Given the description of an element on the screen output the (x, y) to click on. 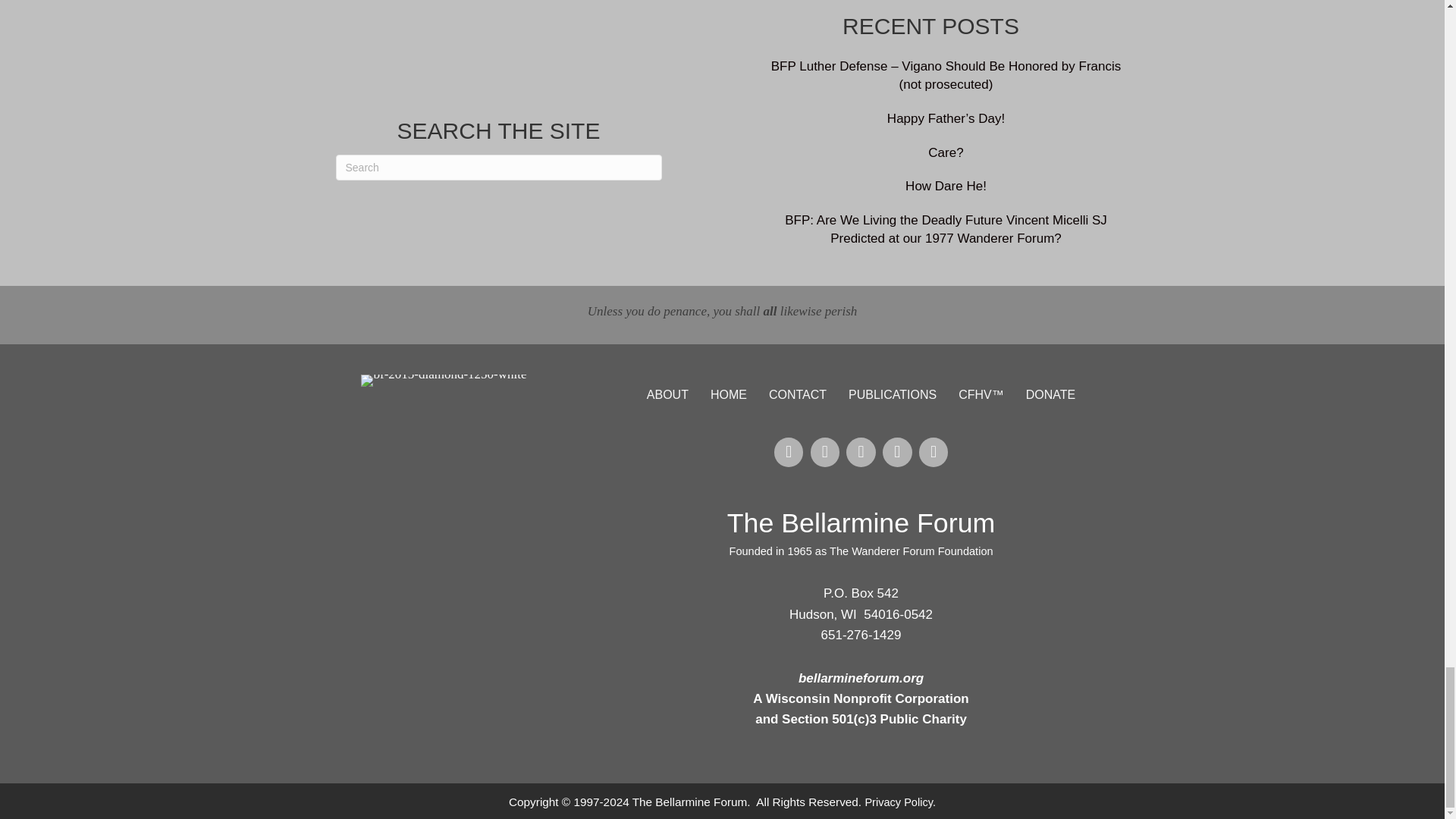
How Dare He! (946, 186)
Type and press Enter to search. (497, 167)
Care? (945, 152)
